Given the description of an element on the screen output the (x, y) to click on. 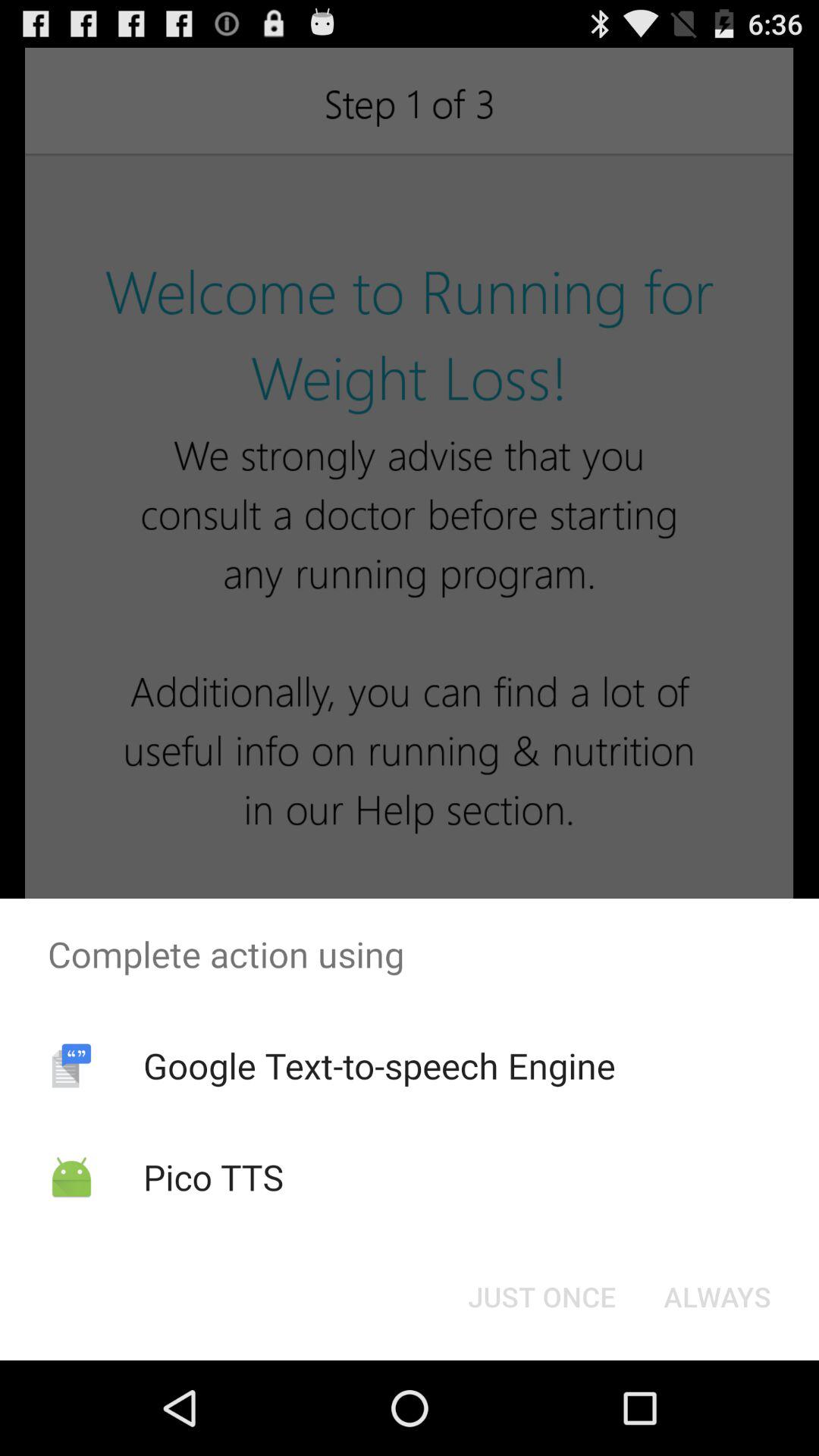
click the always item (717, 1296)
